Given the description of an element on the screen output the (x, y) to click on. 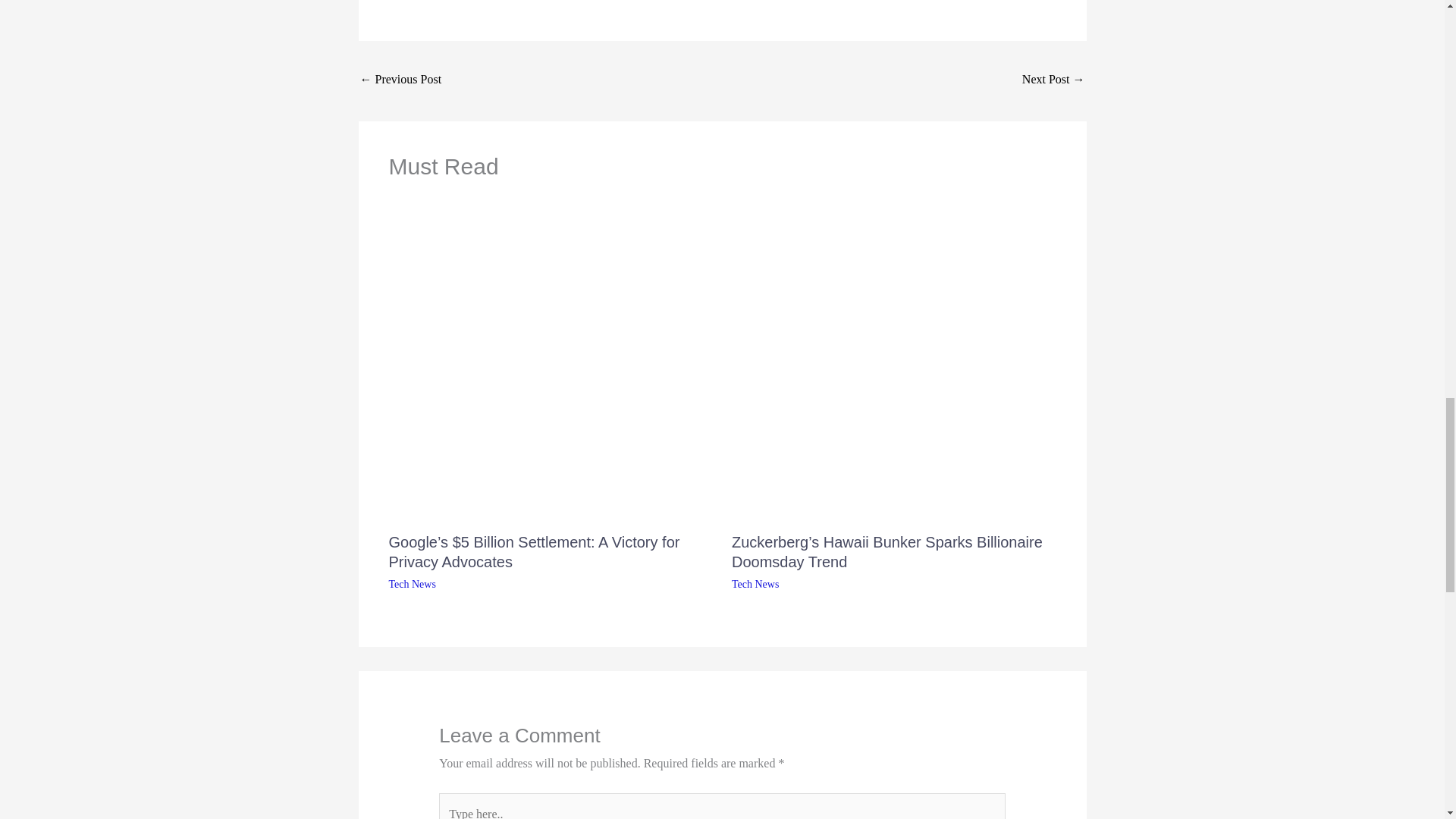
Stay Safe: Alert on the 929 357 2746 Robocall Scam in 2024 (1053, 80)
Tech News (411, 583)
Tech News (755, 583)
